Given the description of an element on the screen output the (x, y) to click on. 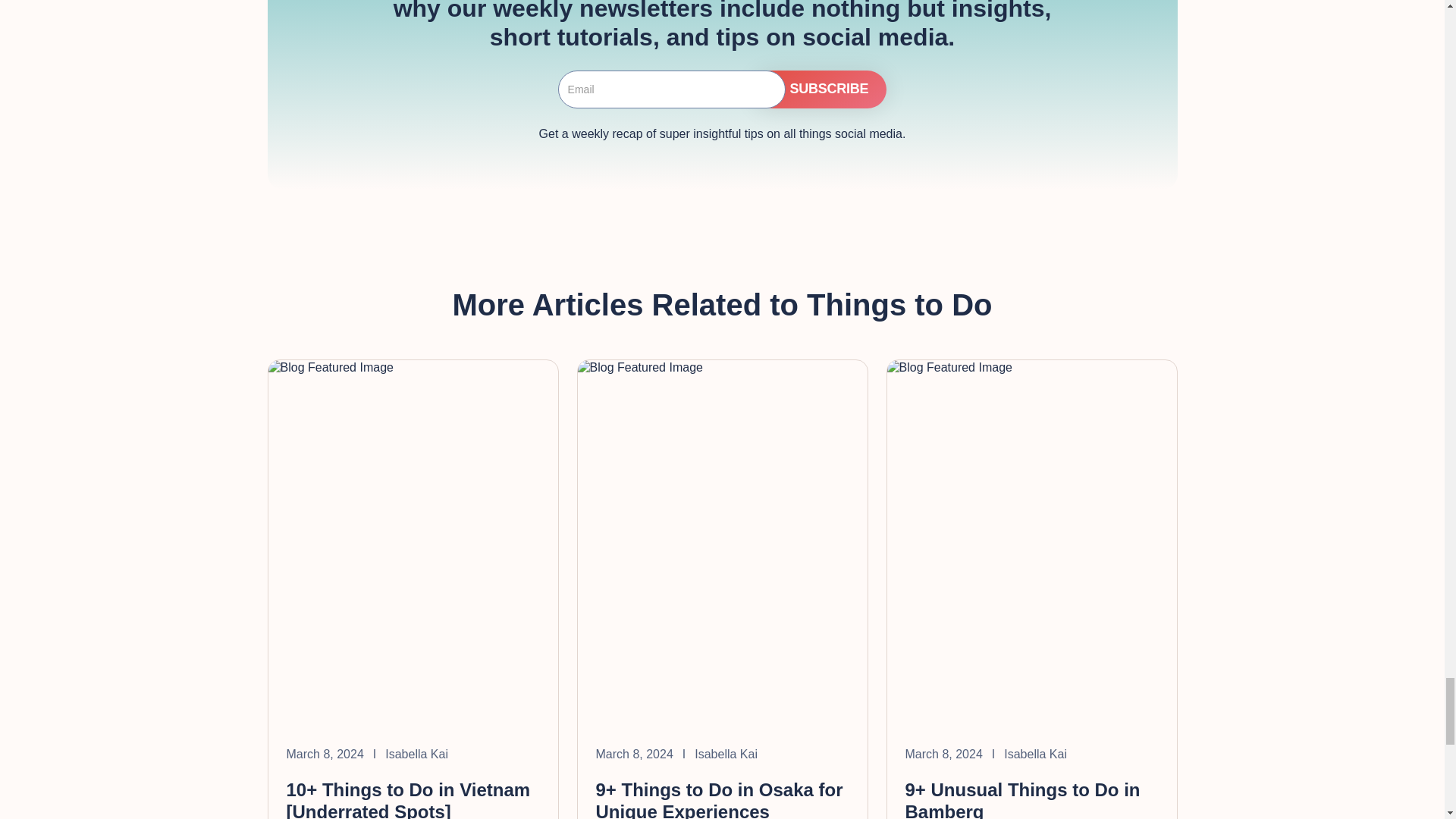
SUBSCRIBE (820, 89)
